Given the description of an element on the screen output the (x, y) to click on. 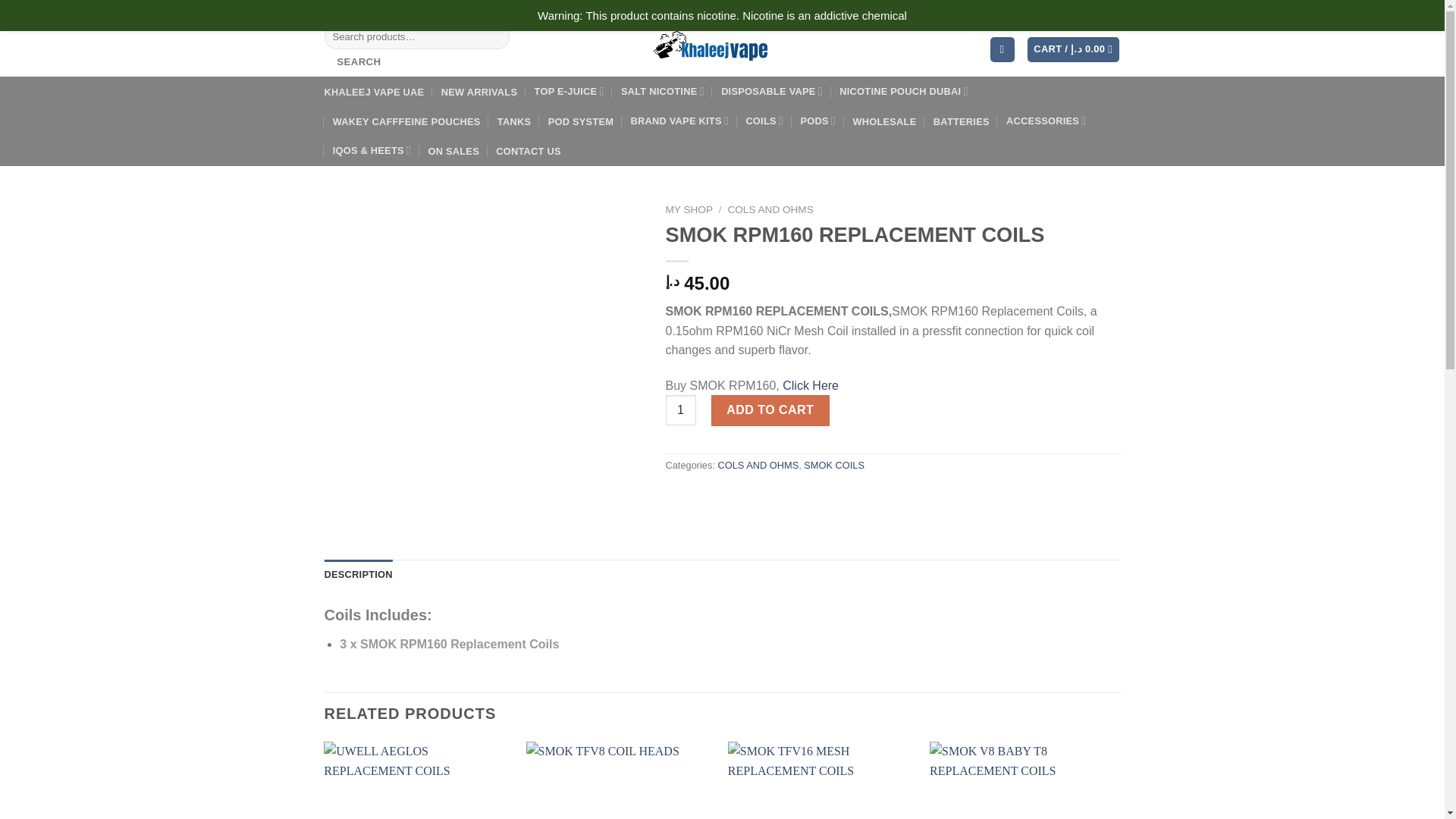
SALT NICOTINE (662, 91)
Wishlist (1035, 11)
KHALEEJ VAPE UAE (374, 92)
KHALEEJ VAPE DUBAI UAE - The Best Vape Shop In UAE. (721, 49)
SEARCH (359, 62)
DISPOSABLE VAPE (771, 91)
Cart (1073, 49)
1 (680, 409)
TOP E-JUICE (569, 91)
NEW ARRIVALS (478, 92)
